Given the description of an element on the screen output the (x, y) to click on. 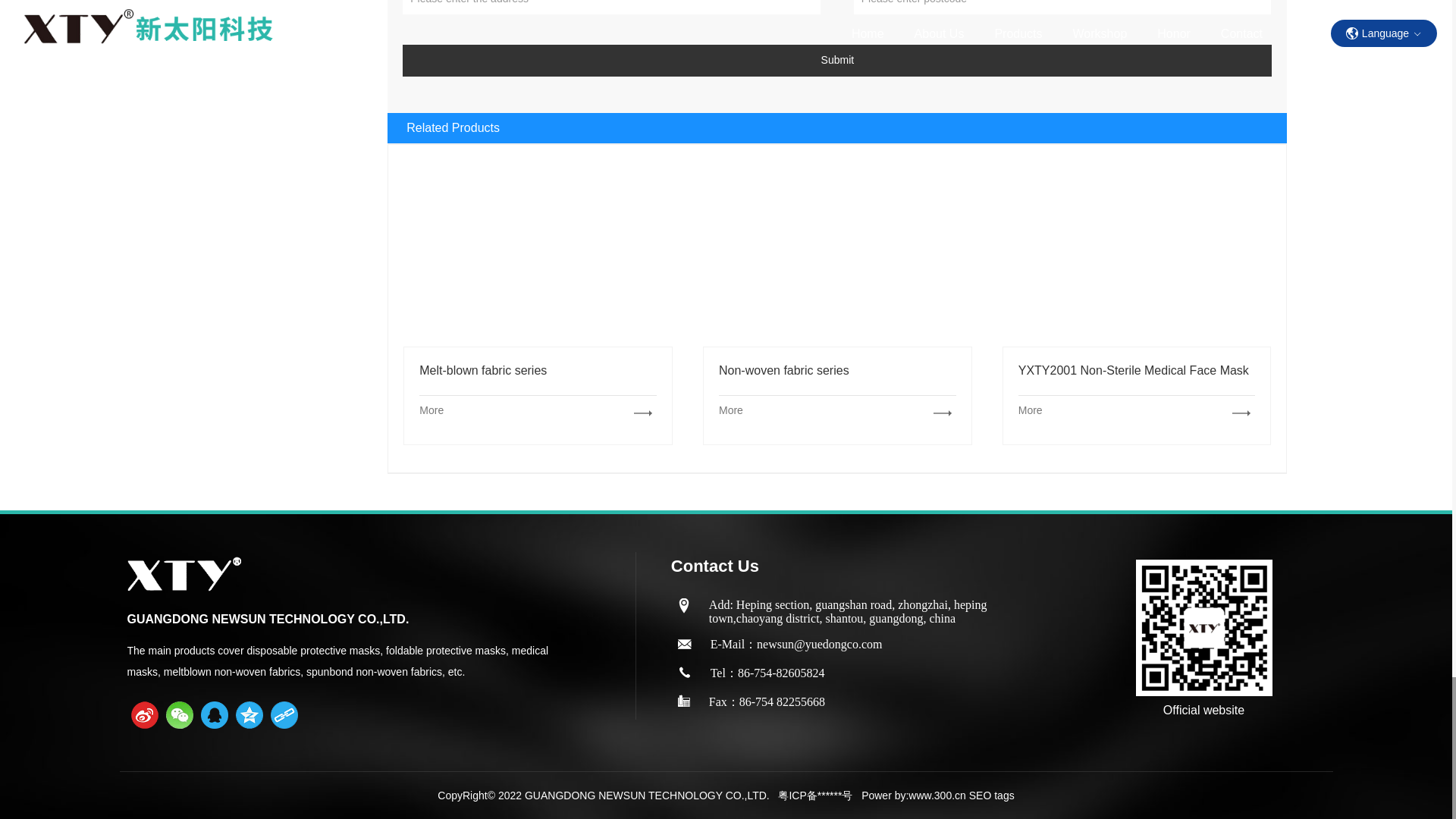
Newsun Technology (642, 413)
Newsun Technology (942, 413)
Newsun Technology (837, 259)
Newsun Technology (537, 259)
More (537, 409)
Submit (837, 60)
Newsun Technology (1137, 259)
Newsun Technology (1240, 413)
